Given the description of an element on the screen output the (x, y) to click on. 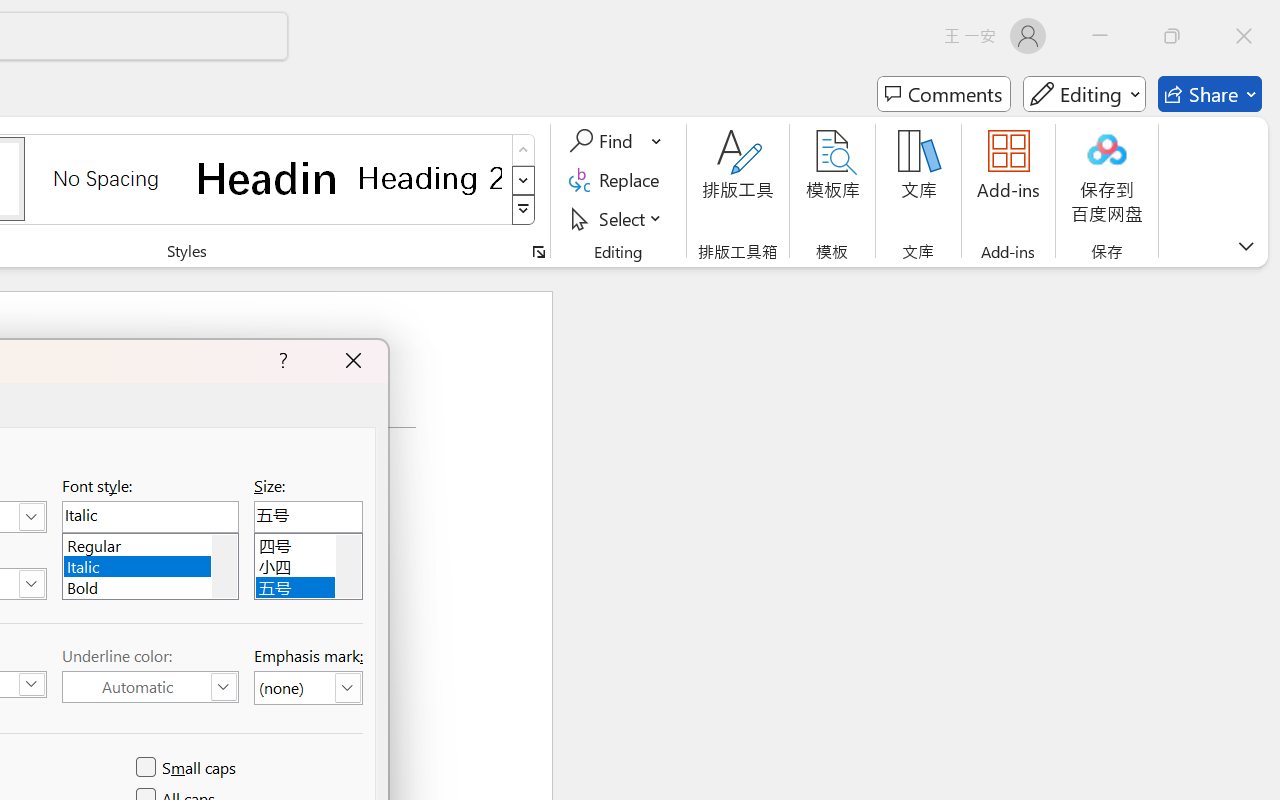
Row Down (523, 180)
Heading 2 (429, 178)
Heading 1 (267, 178)
Select (618, 218)
Styles (523, 209)
Replace... (617, 179)
Italic (150, 564)
Small caps (187, 767)
